Given the description of an element on the screen output the (x, y) to click on. 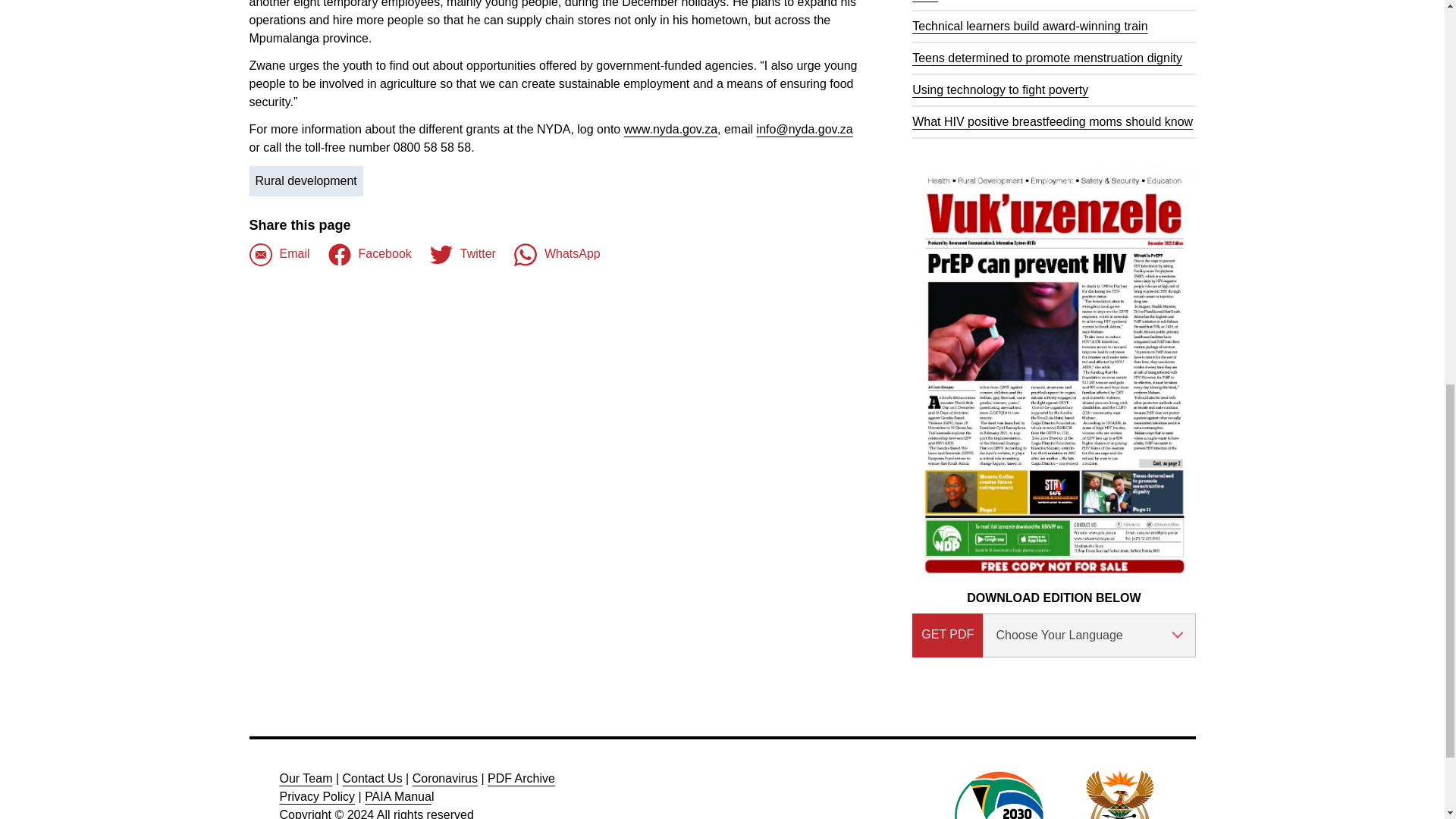
www.nyda.gov.za (670, 128)
Share on Facebook (370, 254)
Share on Twitter (462, 254)
Share on Facebook (278, 254)
Choose Your Language (1088, 635)
Rural development (305, 181)
